Given the description of an element on the screen output the (x, y) to click on. 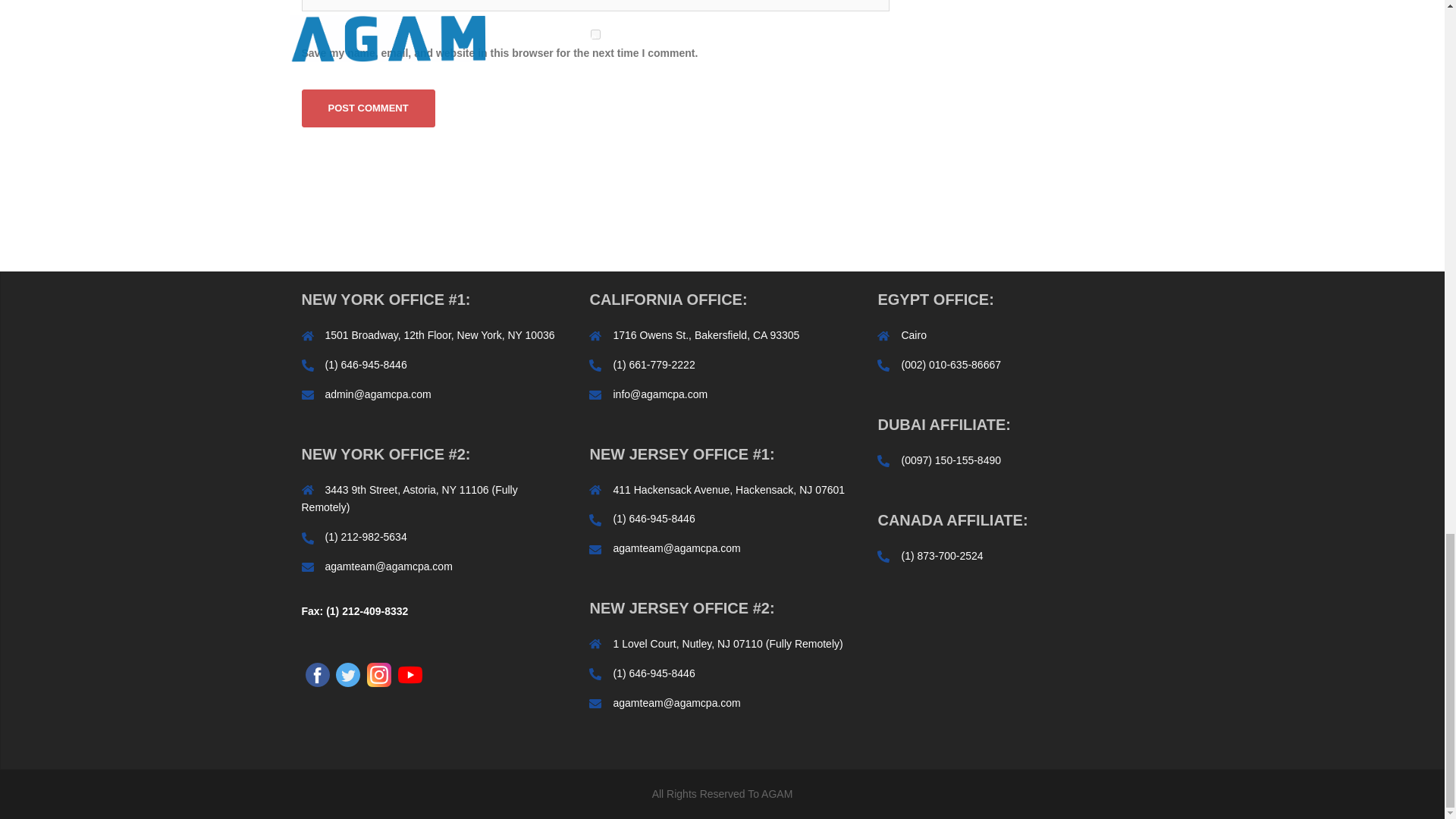
yes (595, 34)
Post Comment (368, 108)
Post Comment (368, 108)
